Given the description of an element on the screen output the (x, y) to click on. 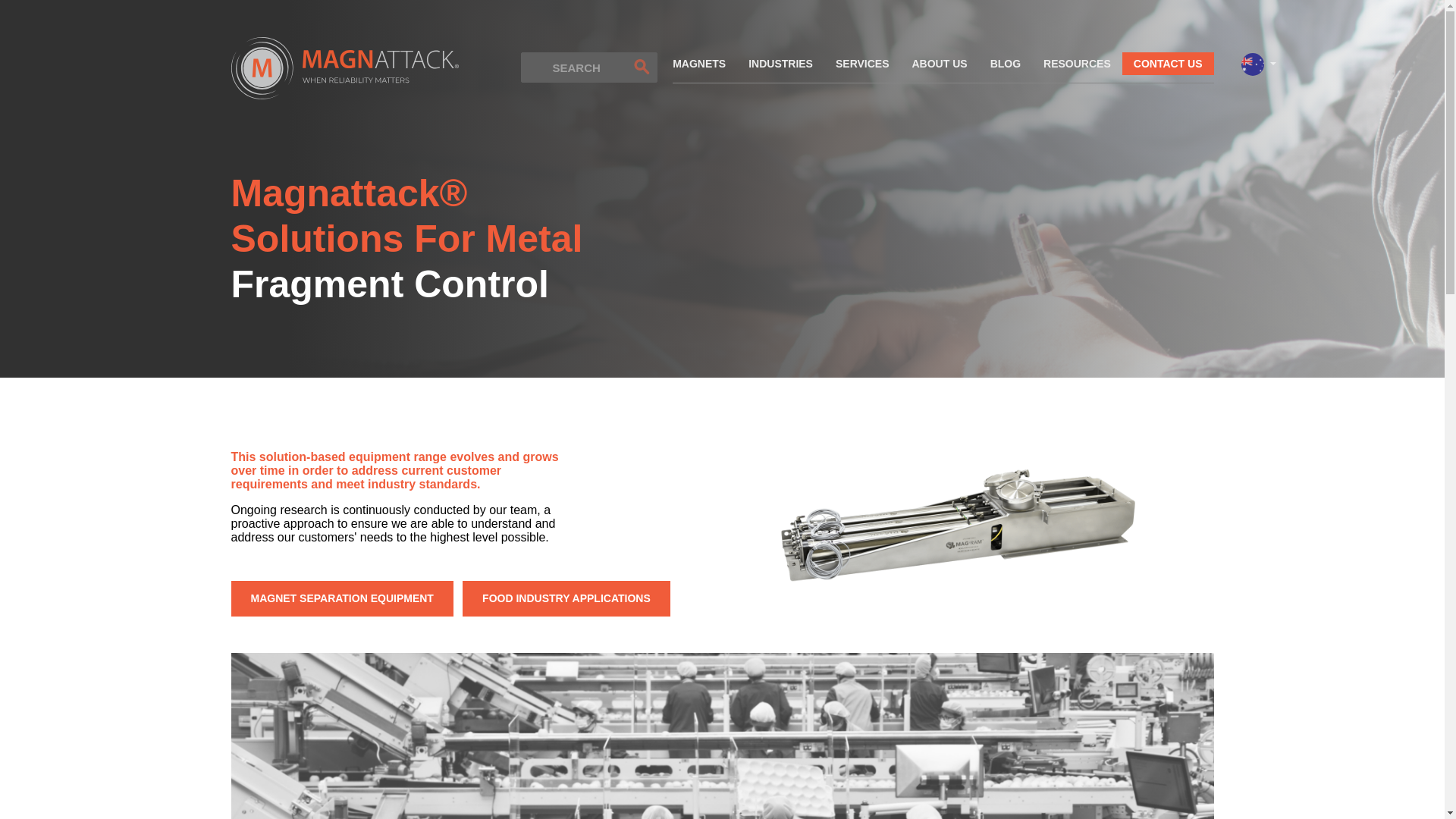
INDUSTRIES (780, 67)
MAGNETS (704, 67)
SERVICES (862, 67)
Search (642, 67)
